Given the description of an element on the screen output the (x, y) to click on. 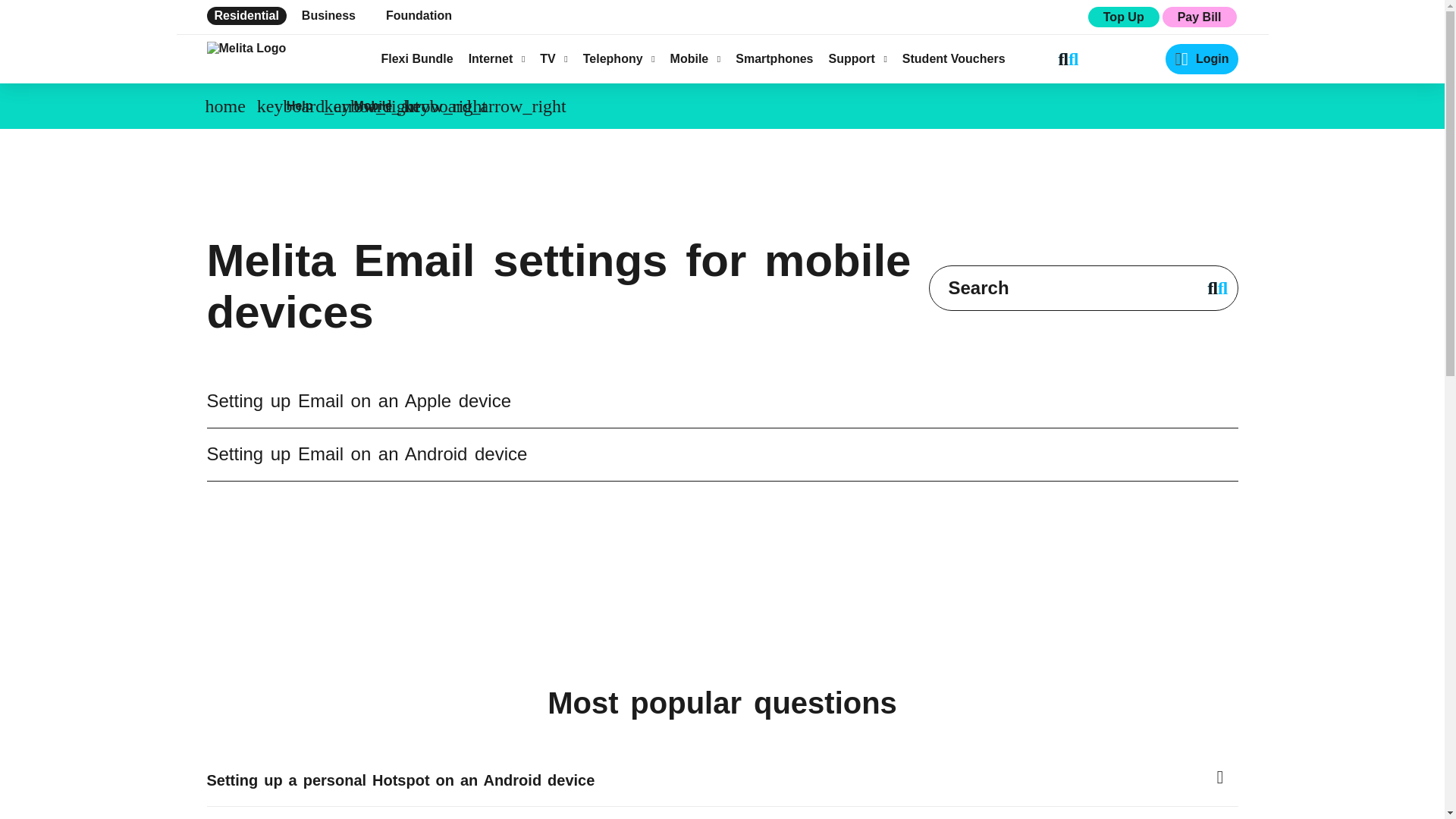
Residential (246, 15)
Telephony (619, 59)
Pay Bill (1198, 16)
Support (857, 59)
Smartphones (773, 59)
Internet (496, 59)
Business (328, 15)
TV (553, 59)
Flexi Bundle (416, 59)
Foundation (418, 15)
Mobile (694, 59)
